Given the description of an element on the screen output the (x, y) to click on. 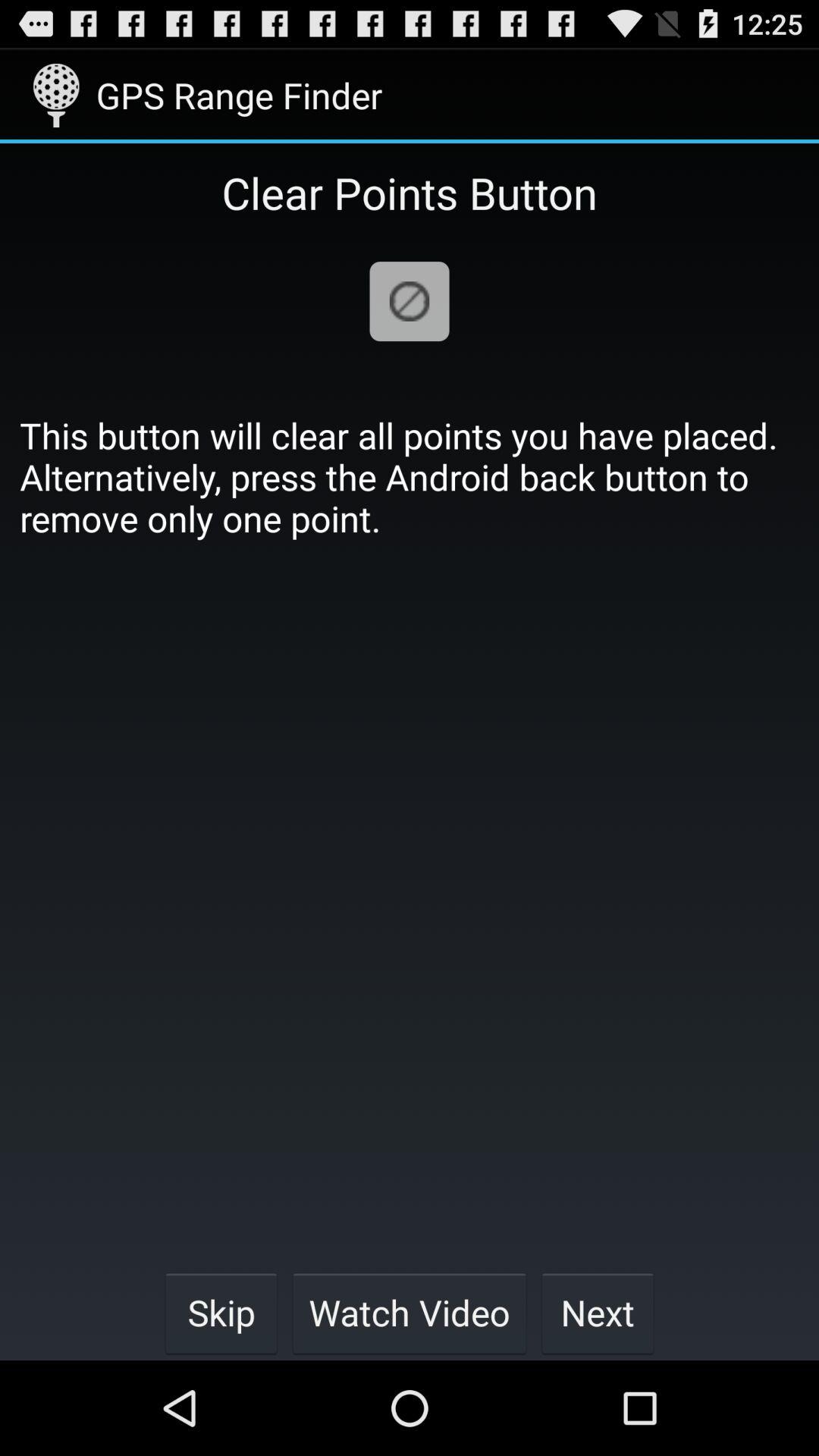
choose the button at the bottom (409, 1312)
